Given the description of an element on the screen output the (x, y) to click on. 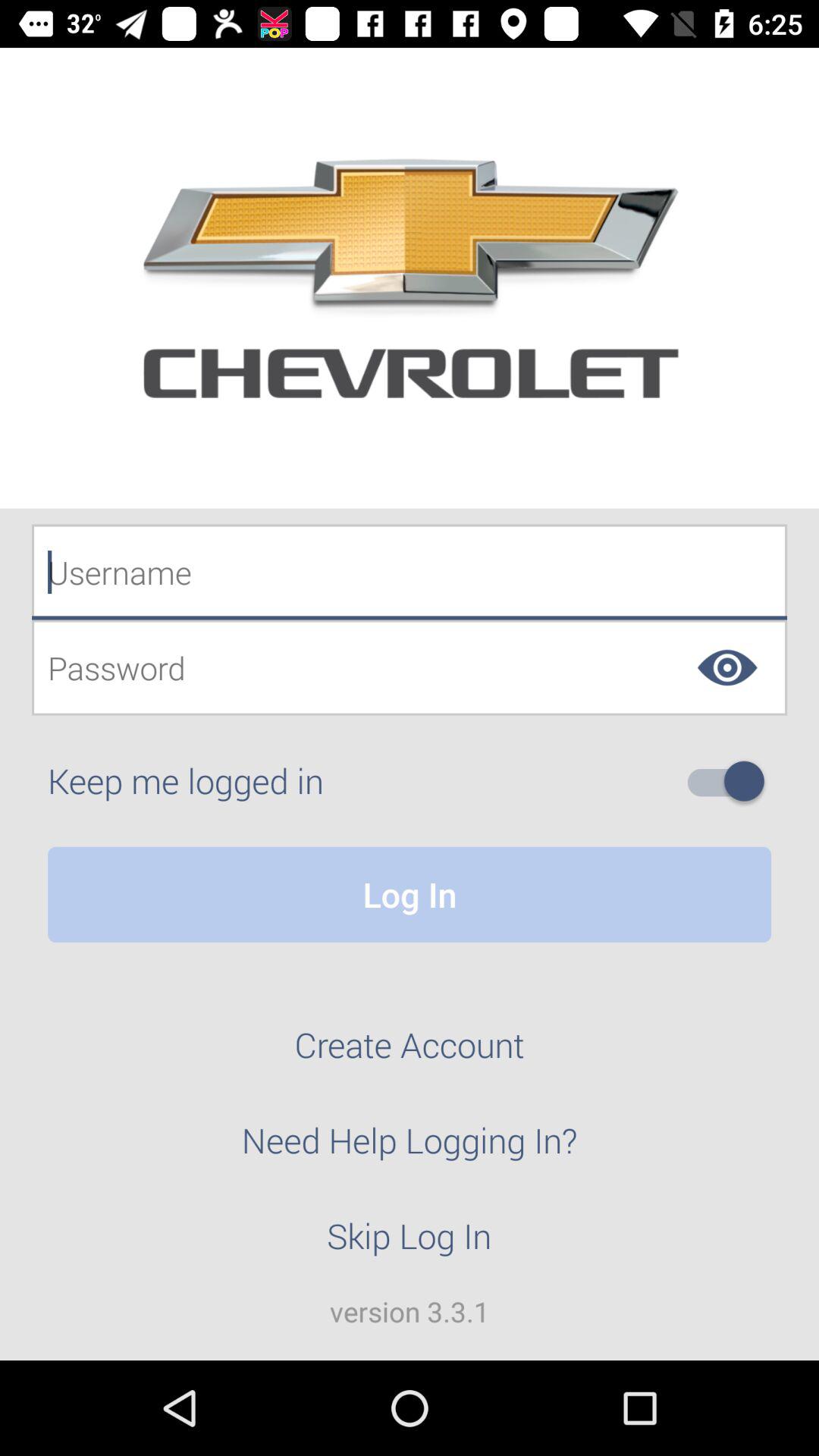
enter username (409, 571)
